Given the description of an element on the screen output the (x, y) to click on. 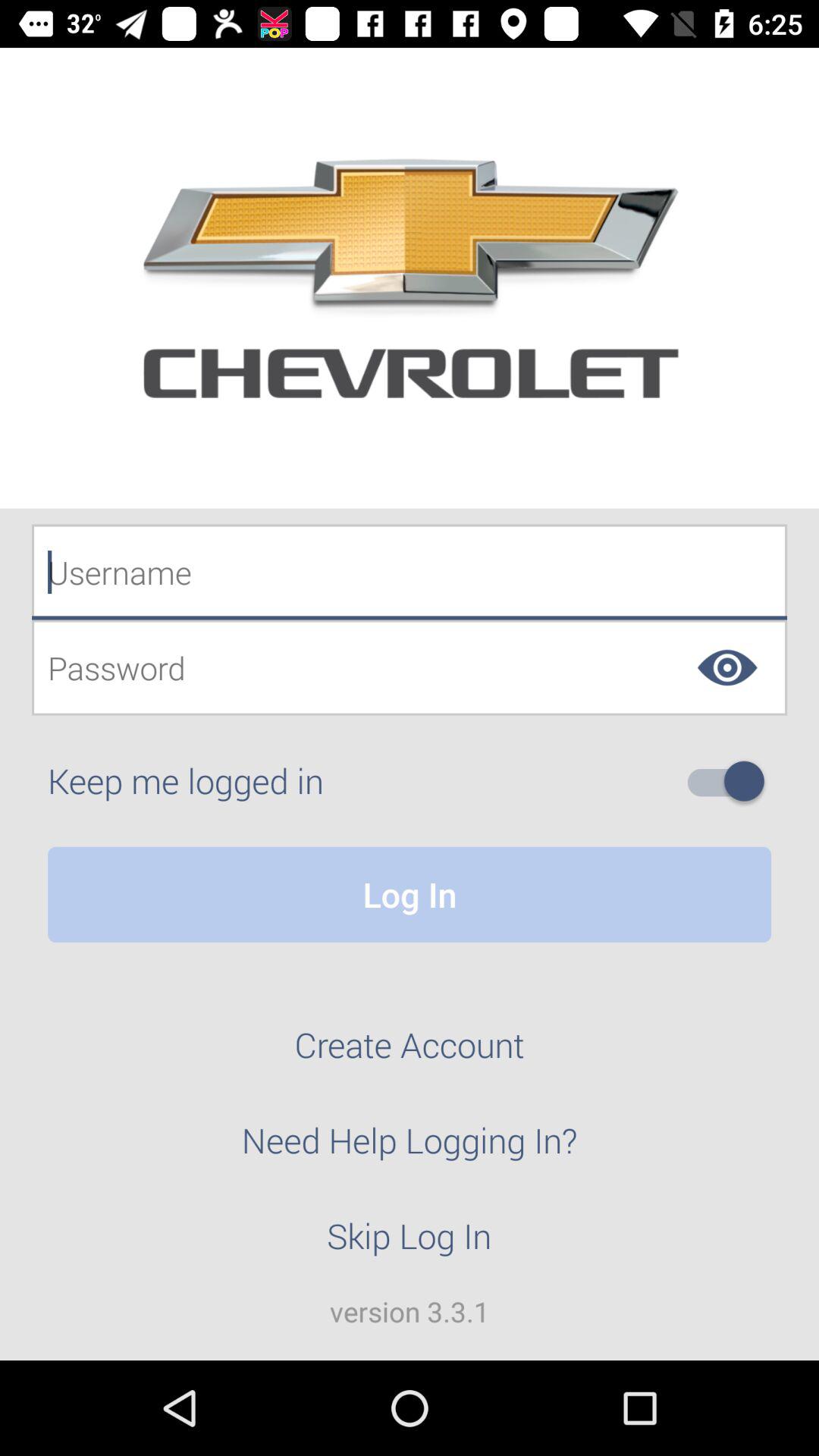
enter username (409, 571)
